Given the description of an element on the screen output the (x, y) to click on. 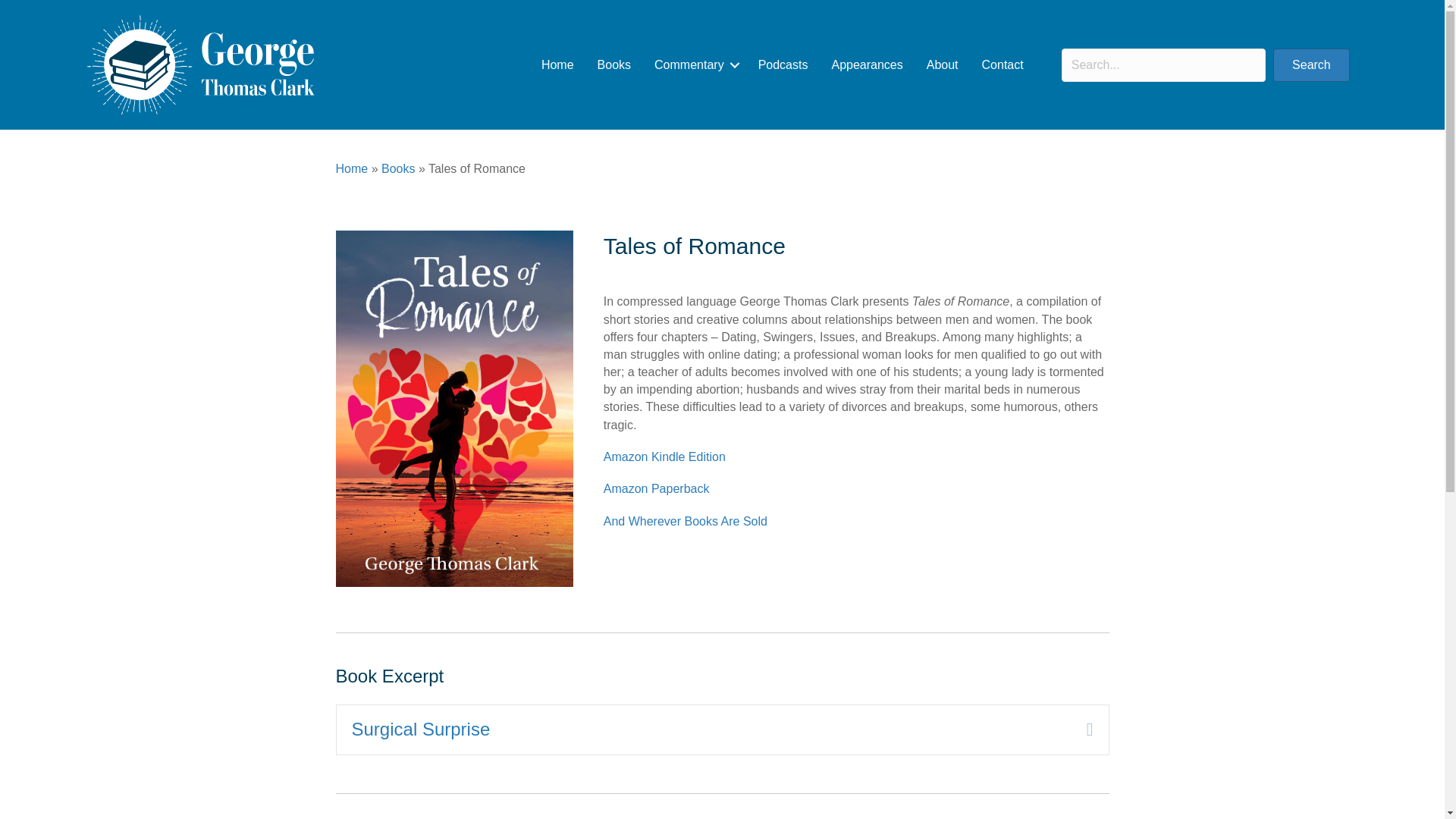
Contact (1003, 64)
Surgical Surprise (708, 729)
Books (614, 64)
About (942, 64)
And Wherever Books Are Sold (685, 521)
logo-white (200, 64)
Commentary (694, 64)
Expand (1078, 729)
Amazon Paperback (657, 488)
Home (557, 64)
Books (397, 168)
Appearances (866, 64)
Search (1310, 64)
Home (351, 168)
Amazon Kindle Edition (664, 456)
